Given the description of an element on the screen output the (x, y) to click on. 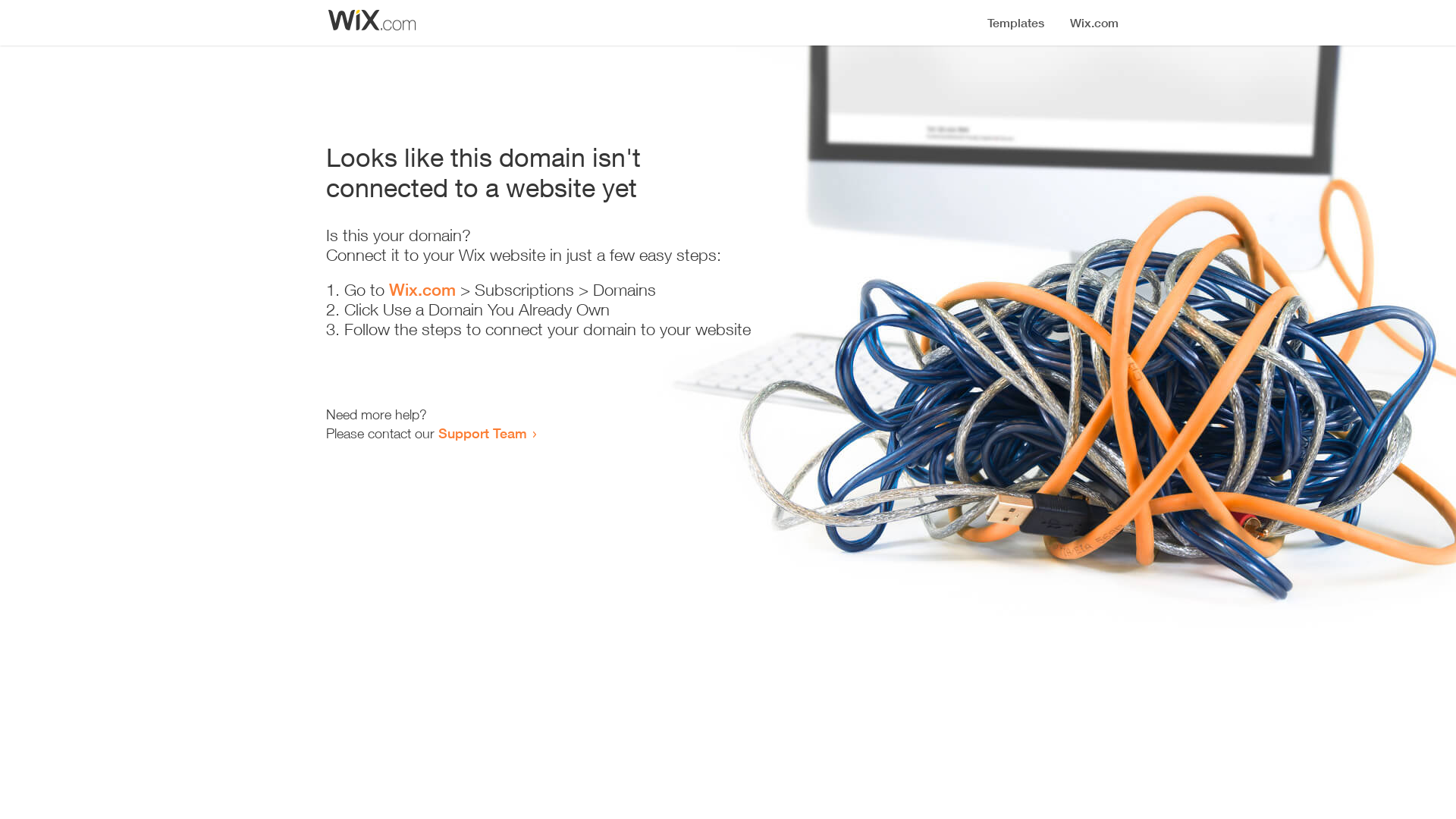
Support Team Element type: text (482, 432)
Wix.com Element type: text (422, 289)
